Given the description of an element on the screen output the (x, y) to click on. 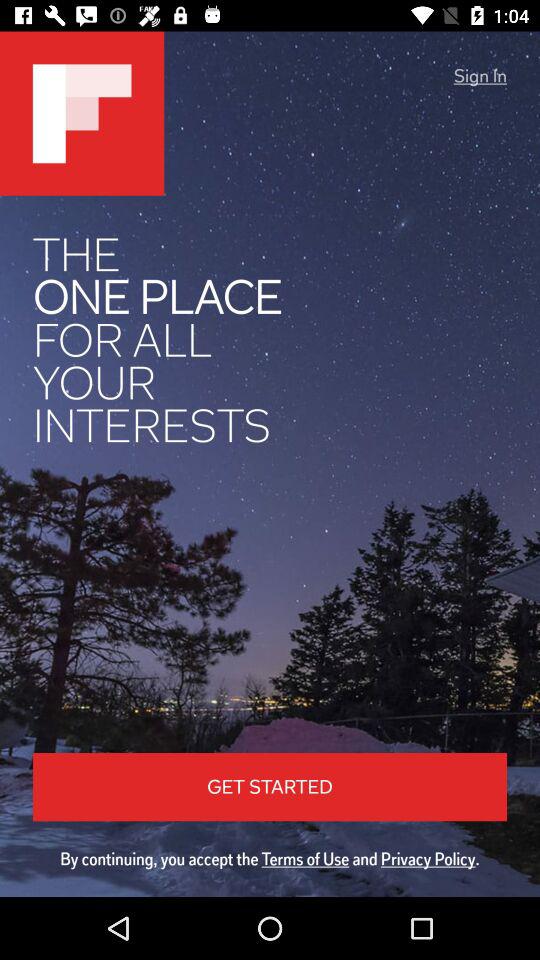
click the sign in item (480, 75)
